Given the description of an element on the screen output the (x, y) to click on. 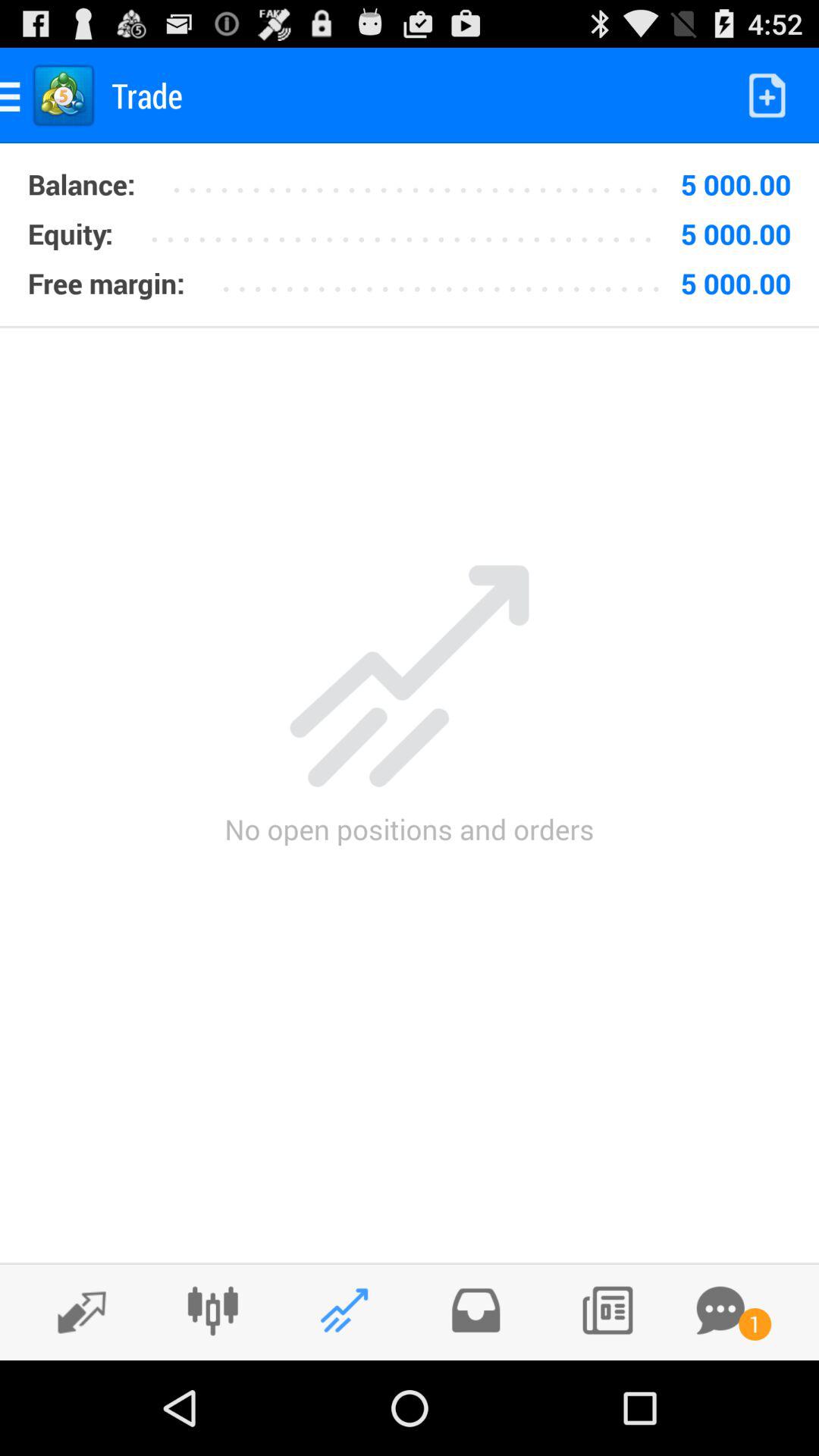
launch item to the left of the 5 000.00 icon (410, 228)
